Given the description of an element on the screen output the (x, y) to click on. 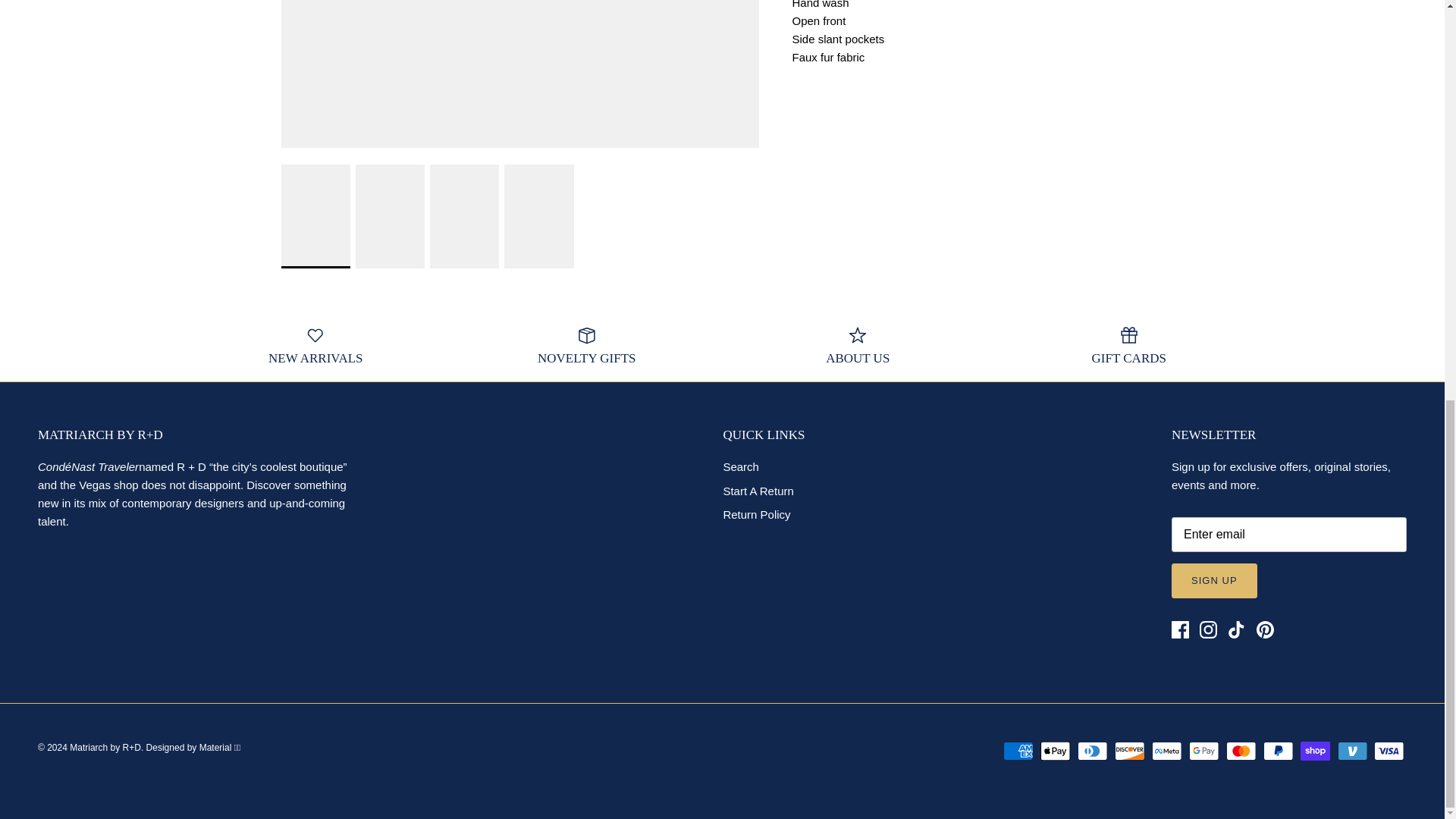
Instagram (1208, 629)
Apple Pay (1055, 751)
Discover (1129, 751)
Pinterest (1263, 629)
Diners Club (1092, 751)
Facebook (1180, 629)
American Express (1018, 751)
